Given the description of an element on the screen output the (x, y) to click on. 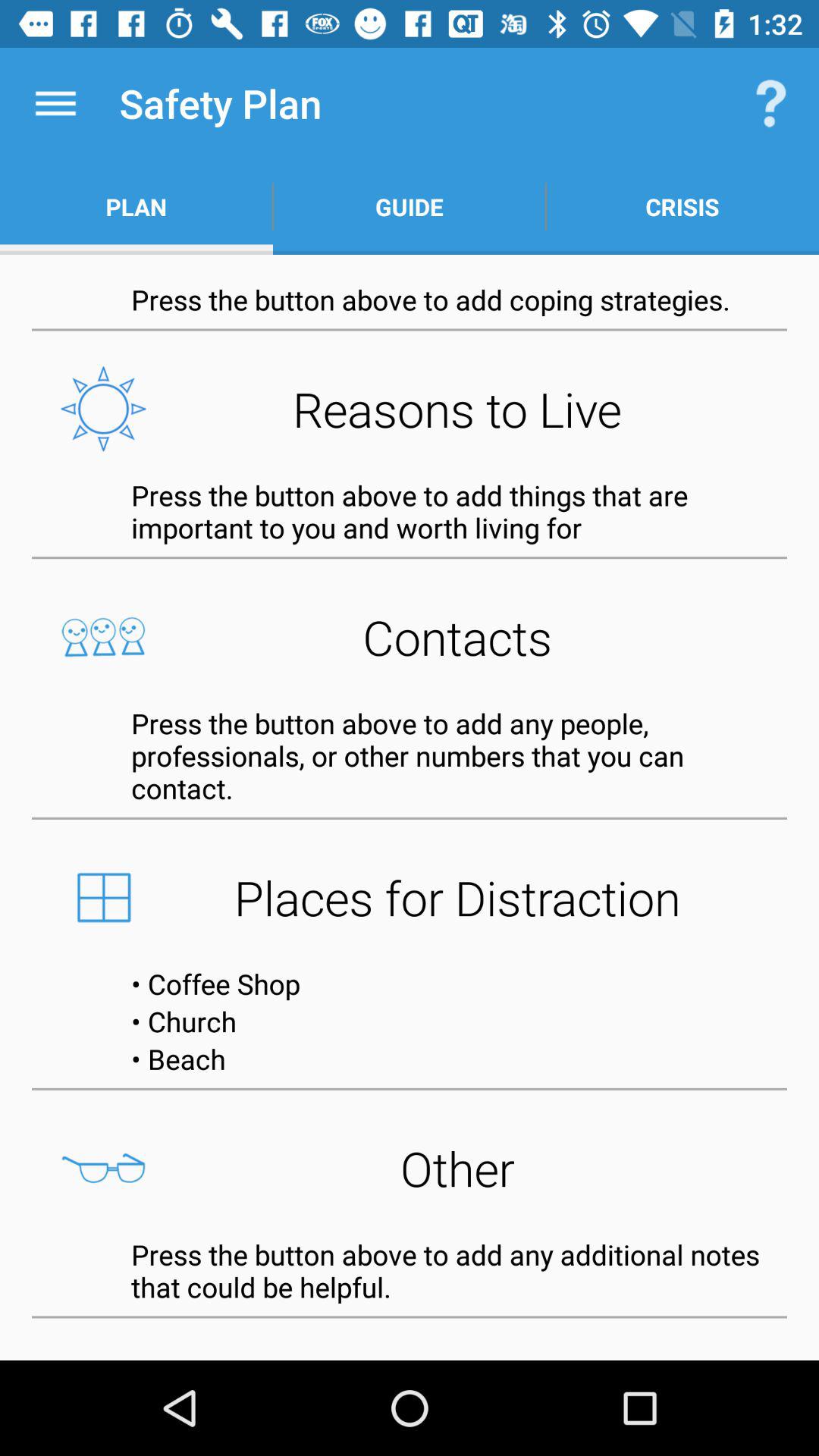
press the icon next to safety plan app (55, 103)
